Given the description of an element on the screen output the (x, y) to click on. 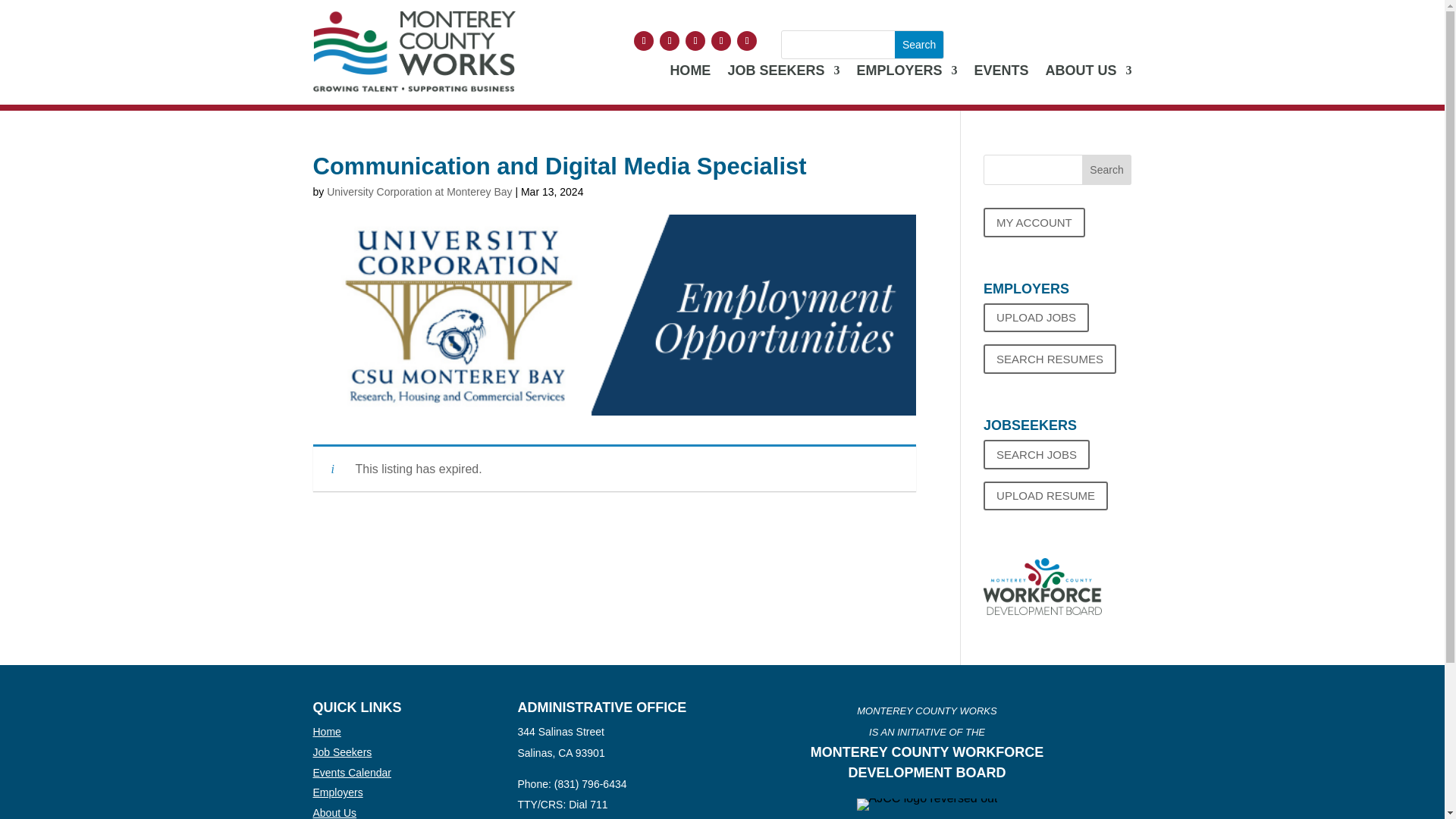
Search (919, 44)
Search (1106, 169)
americasjobcenter (927, 804)
Follow on Youtube (694, 40)
Follow on LinkedIn (720, 40)
montereycountyworkslogo (414, 51)
Follow on Facebook (643, 40)
EMPLOYERS (906, 73)
Search (919, 44)
Follow on Instagram (746, 40)
